Given the description of an element on the screen output the (x, y) to click on. 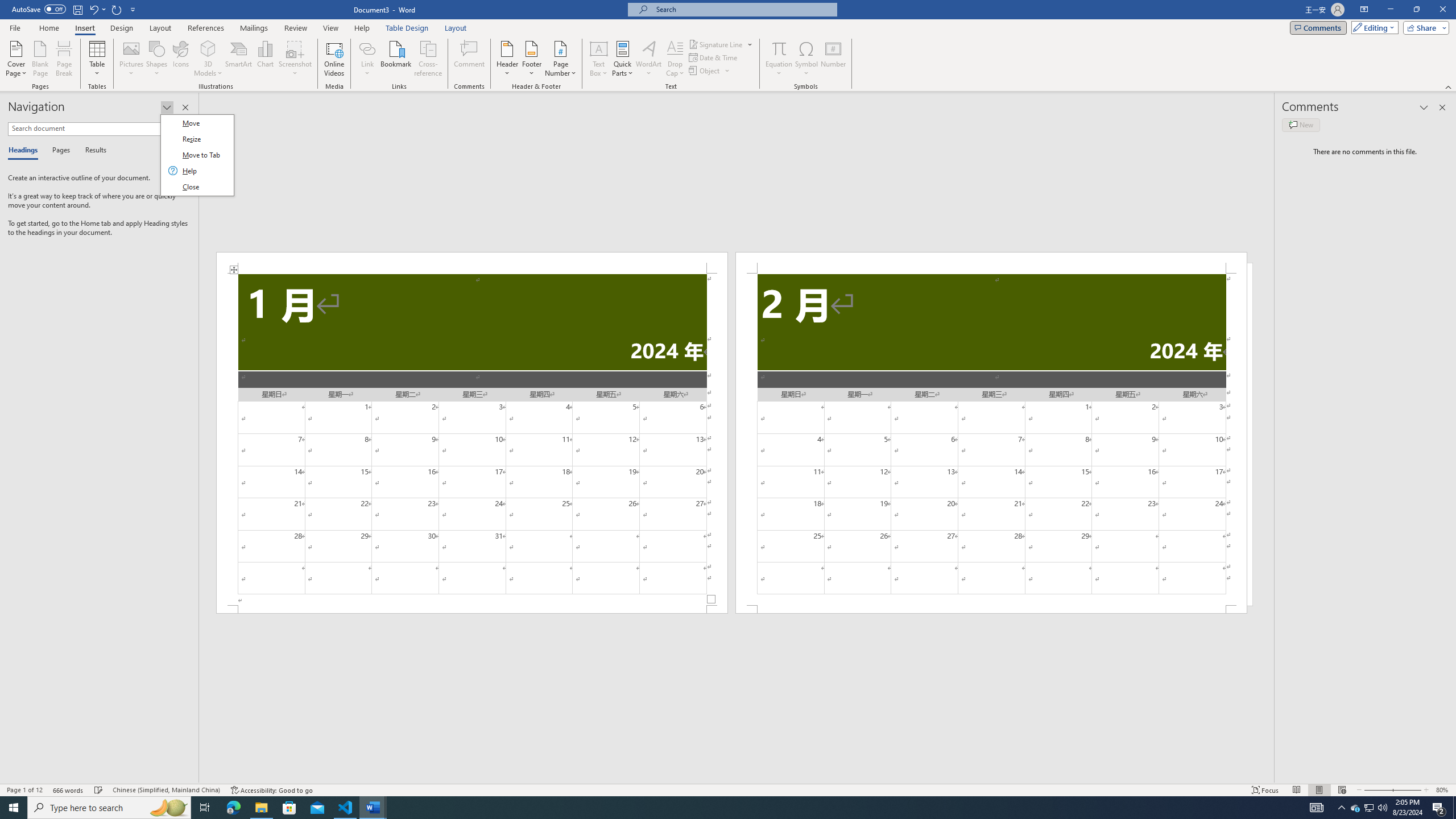
Symbol (806, 58)
Header (507, 58)
Word - 2 running windows (373, 807)
Page Number Page 1 of 12 (24, 790)
Mode (1372, 27)
Link (367, 48)
Microsoft Edge (233, 807)
Class: NetUIScrollBar (736, 778)
Microsoft Store (289, 807)
Page Break (63, 58)
